Given the description of an element on the screen output the (x, y) to click on. 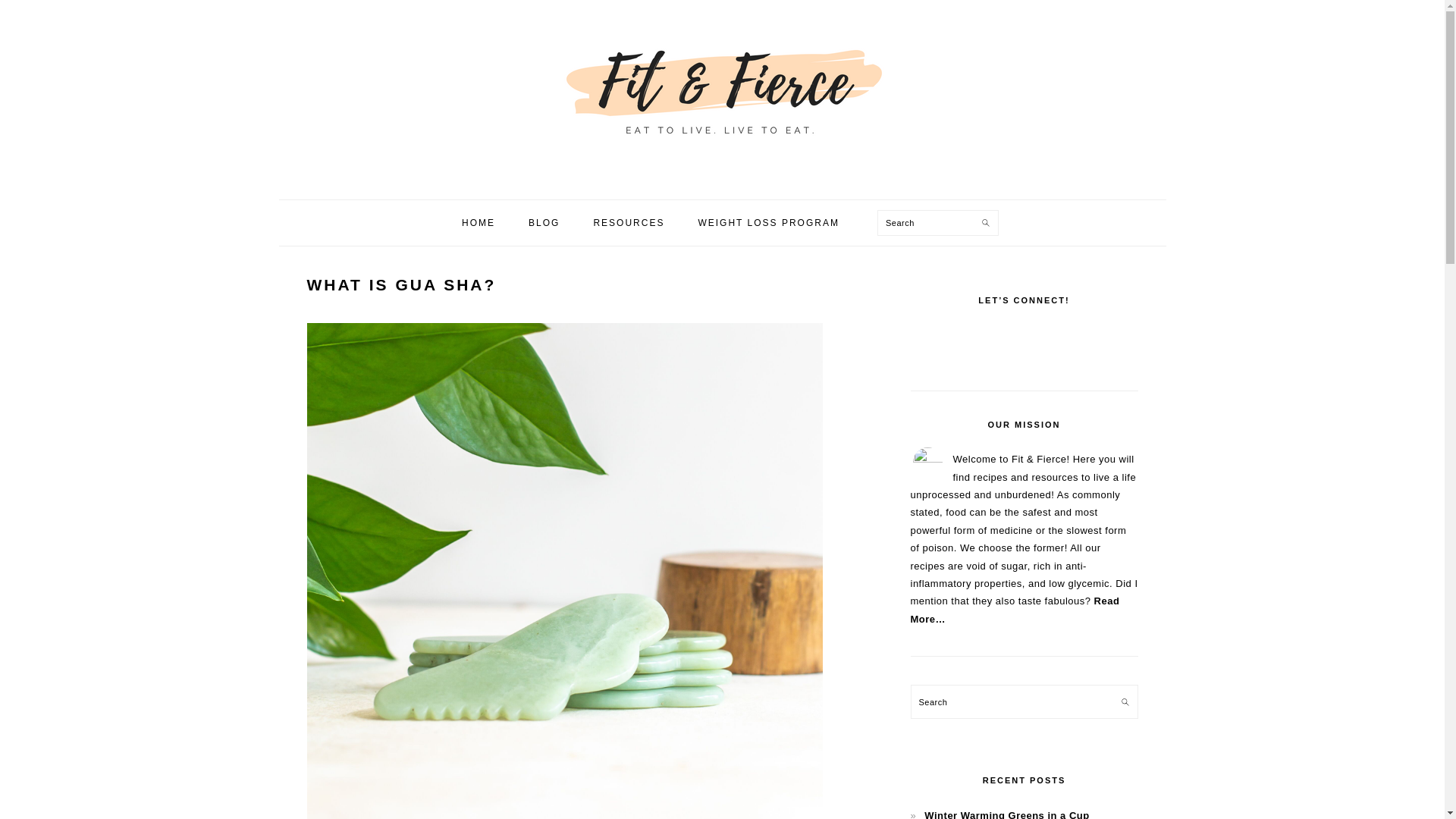
BLOG (543, 222)
Fit-Fierce (721, 161)
RESOURCES (627, 222)
HOME (478, 222)
Fit-Fierce (721, 91)
